Given the description of an element on the screen output the (x, y) to click on. 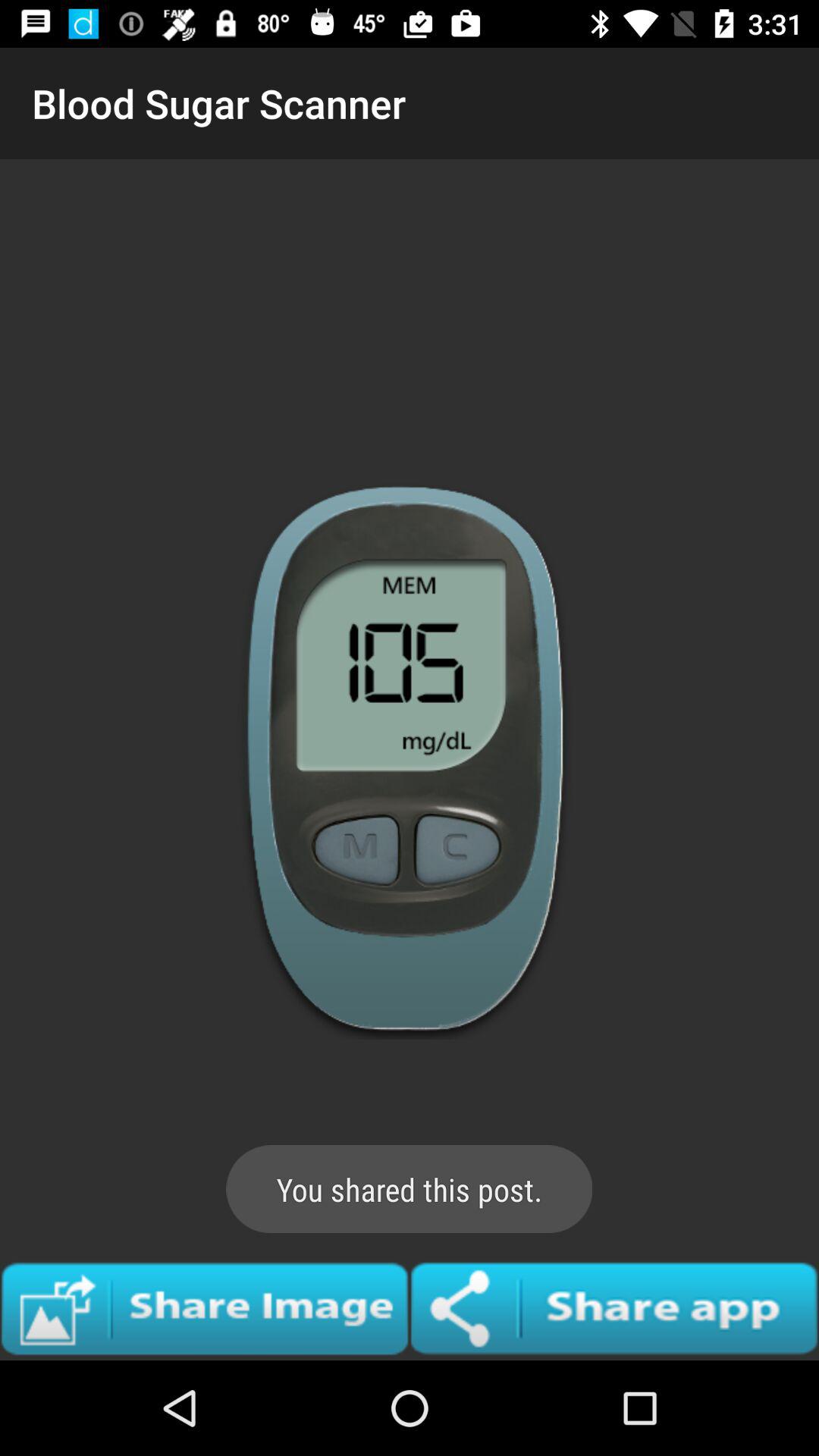
share the app (614, 1308)
